Given the description of an element on the screen output the (x, y) to click on. 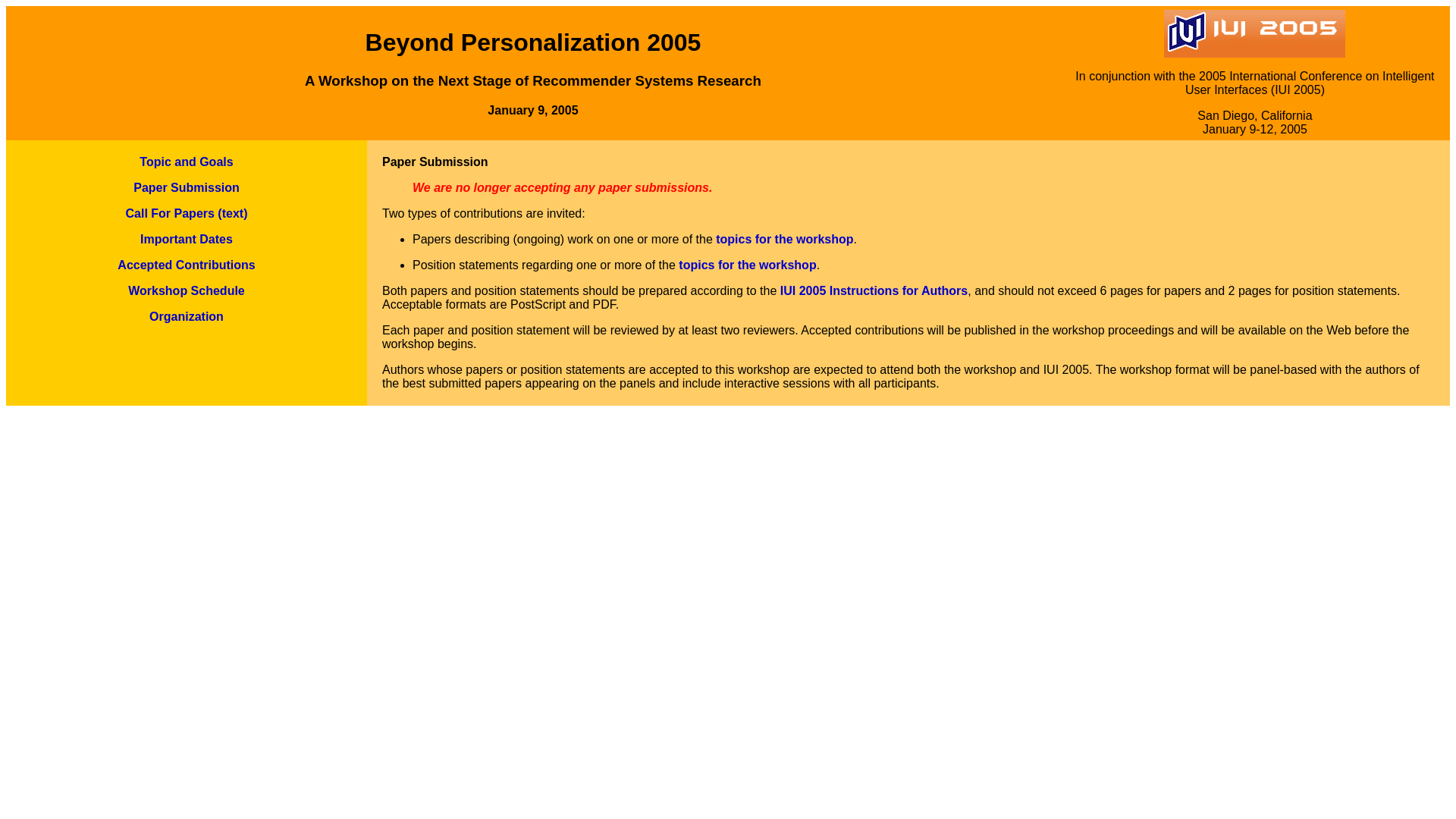
topics for the workshop (784, 238)
IUI 2005 Instructions for Authors (874, 290)
Organization (186, 316)
Workshop Schedule (186, 290)
Accepted Contributions (185, 264)
Topic and Goals (185, 161)
topics for the workshop (746, 264)
Paper Submission (186, 187)
Important Dates (185, 238)
